Given the description of an element on the screen output the (x, y) to click on. 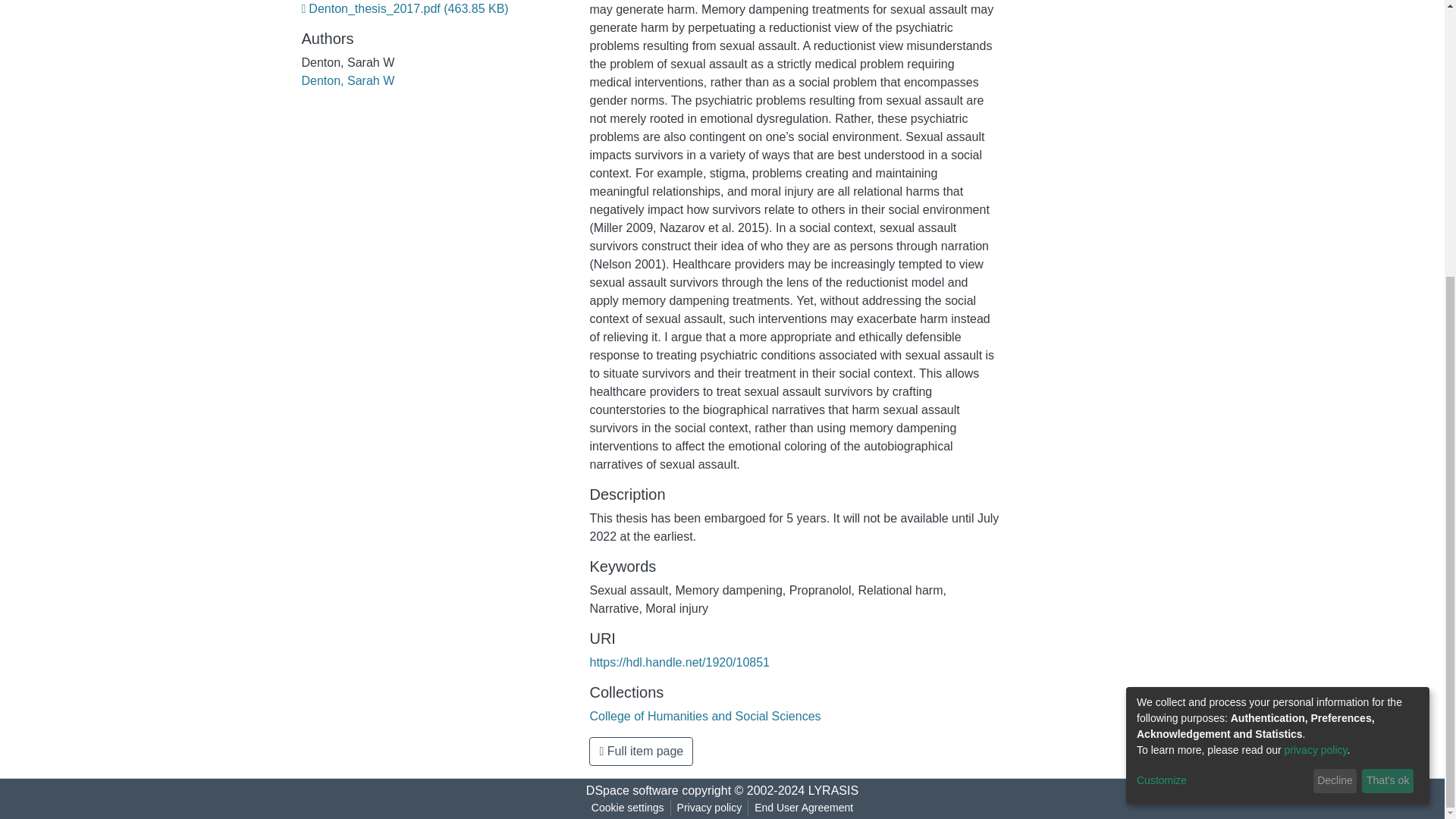
That's ok (1387, 371)
LYRASIS (833, 789)
Privacy policy (709, 807)
Denton, Sarah W (347, 80)
Cookie settings (627, 807)
Decline (1334, 371)
DSpace software (632, 789)
Full item page (641, 751)
End User Agreement (803, 807)
Customize (1222, 371)
College of Humanities and Social Sciences (705, 716)
privacy policy (1316, 340)
